Given the description of an element on the screen output the (x, y) to click on. 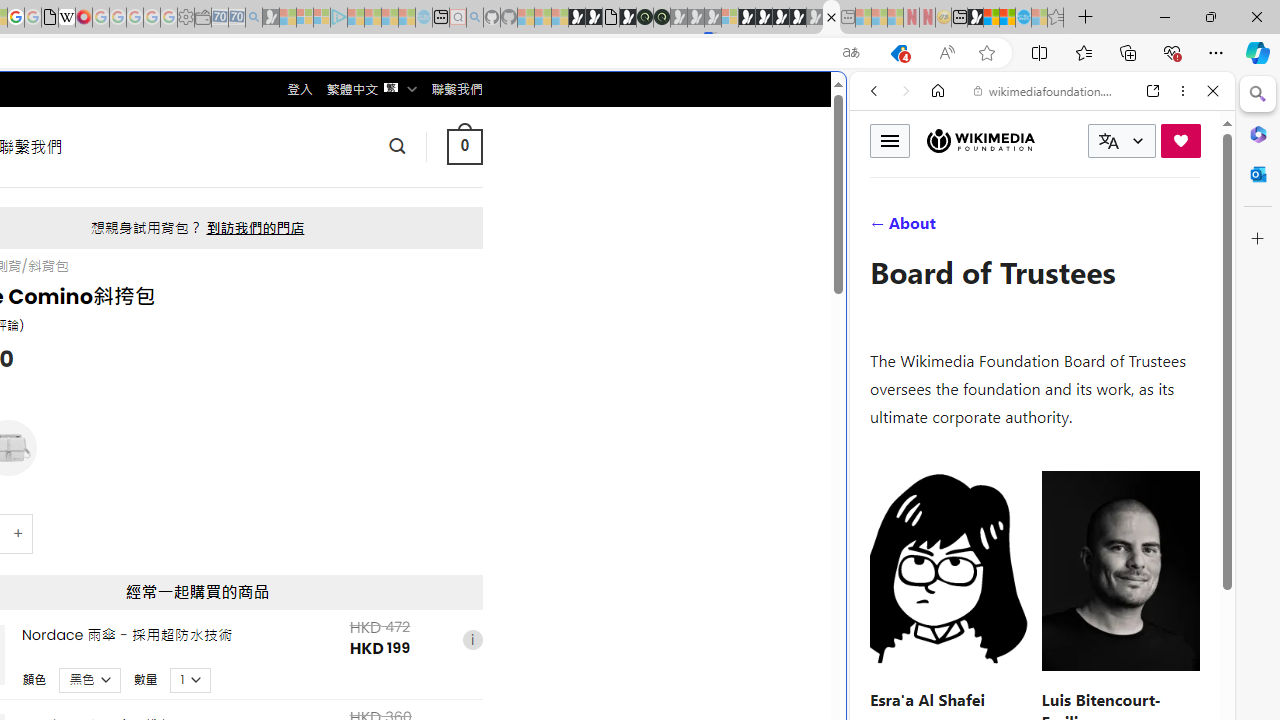
+ (19, 532)
Tabs you've opened (276, 265)
